Given the description of an element on the screen output the (x, y) to click on. 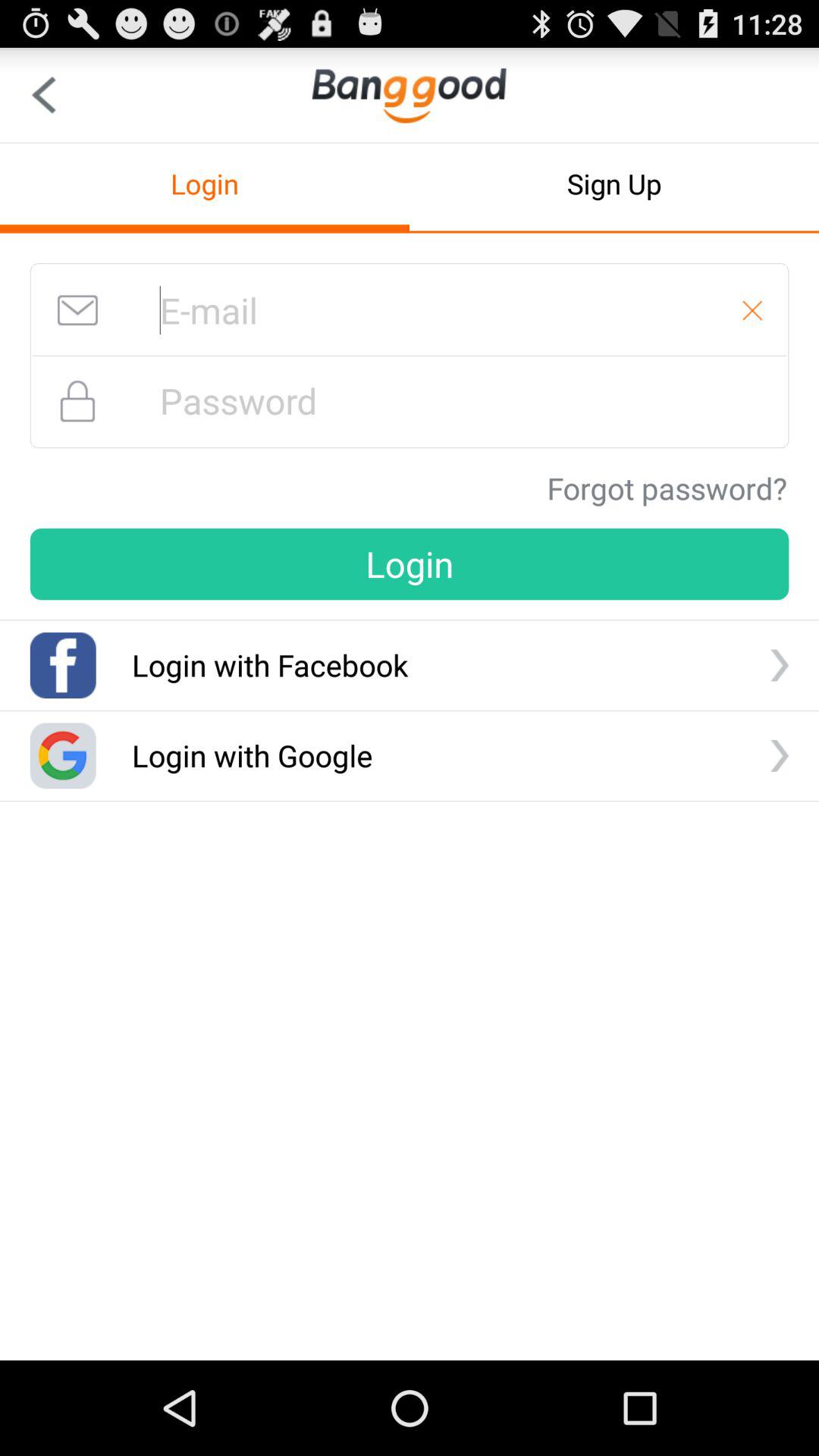
clear (752, 310)
